Given the description of an element on the screen output the (x, y) to click on. 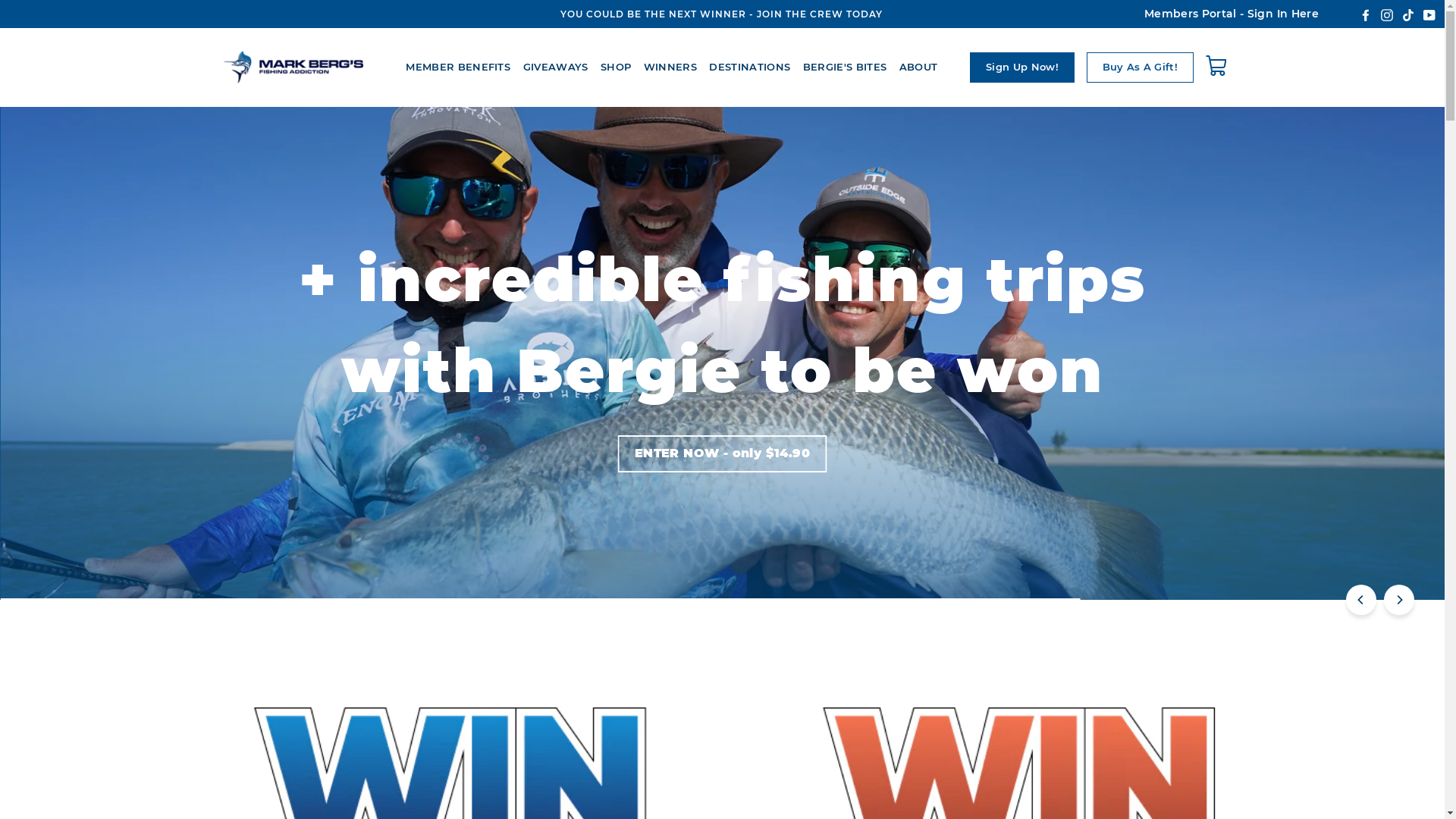
YOU COULD BE THE NEXT WINNER - JOIN THE CREW TODAY Element type: text (721, 14)
Instagram Element type: text (1386, 13)
GIVEAWAYS Element type: text (555, 67)
ABOUT Element type: text (918, 67)
DESTINATIONS Element type: text (749, 67)
SHOP Element type: text (615, 67)
TikTok Element type: text (1408, 13)
ENTER NOW - only $14.90 Element type: text (722, 453)
MEMBER BENEFITS Element type: text (457, 67)
Members Portal - Sign In Here Element type: text (1231, 13)
YouTube Element type: text (1429, 13)
Buy As A Gift! Element type: text (1139, 67)
Sign Up Now! Element type: text (1021, 67)
WINNERS Element type: text (670, 67)
Cart Element type: text (1218, 67)
Facebook Element type: text (1365, 13)
BERGIE'S BITES Element type: text (844, 67)
